Given the description of an element on the screen output the (x, y) to click on. 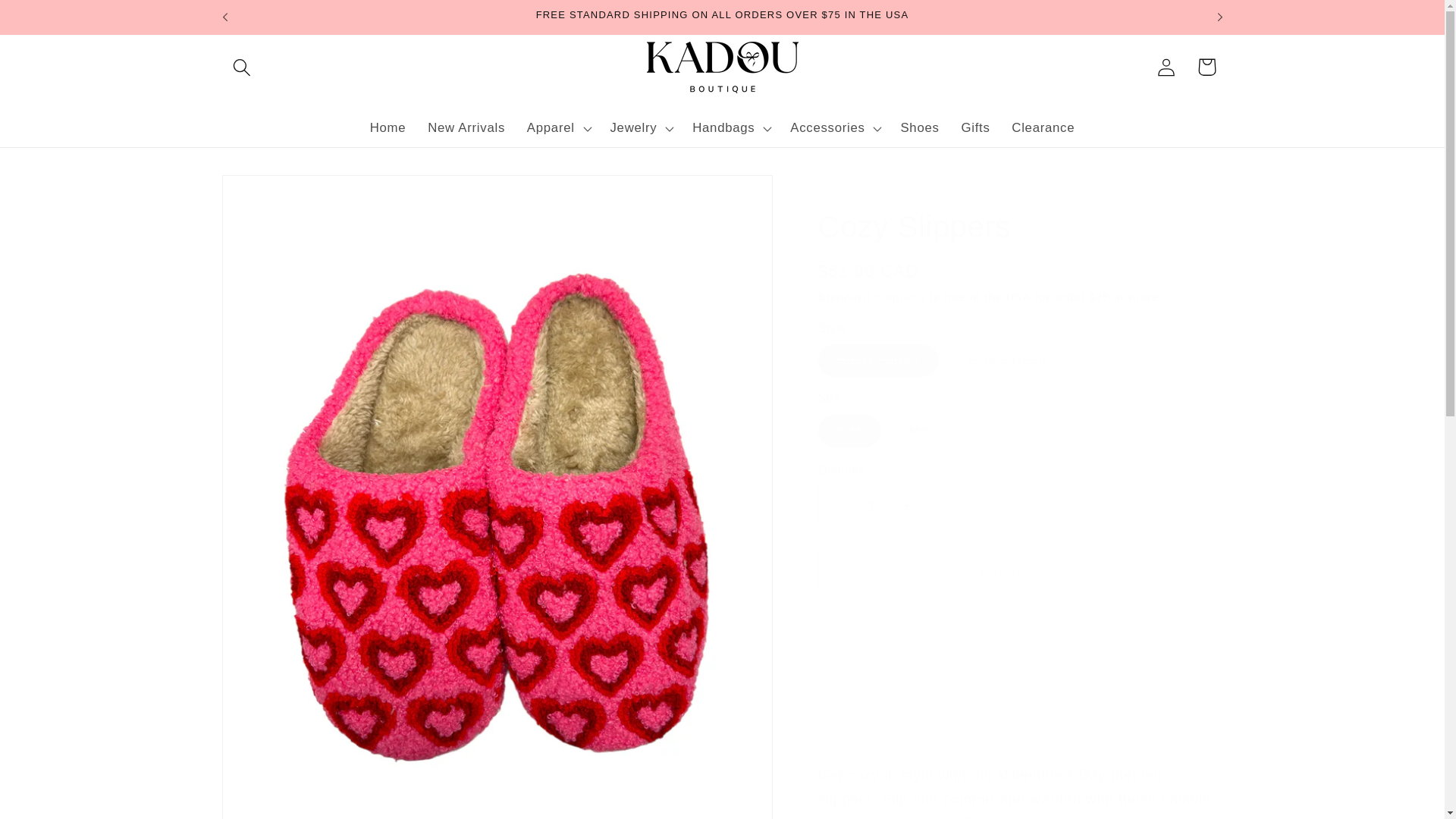
Skip to content (55, 20)
1 (870, 505)
